Given the description of an element on the screen output the (x, y) to click on. 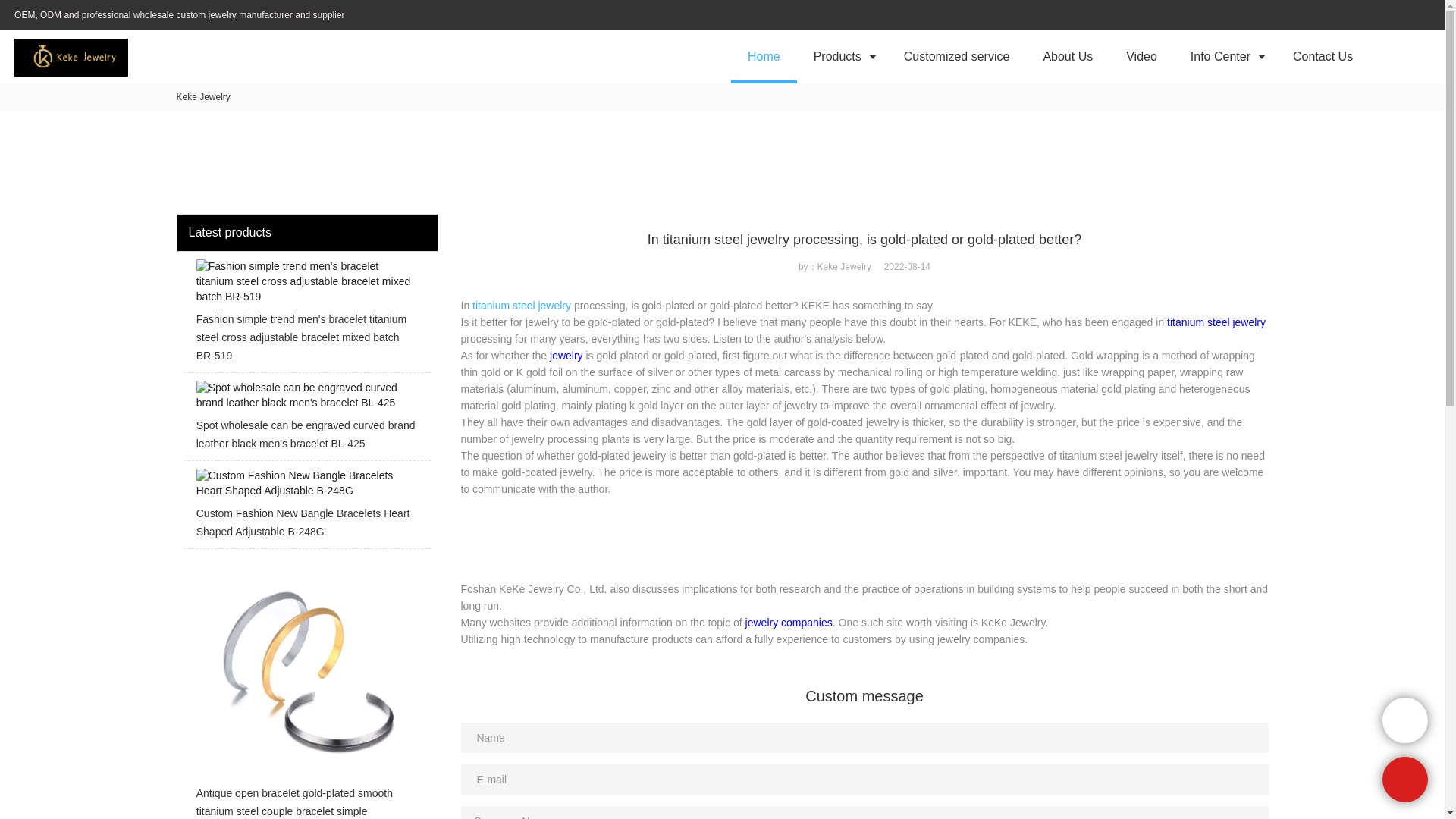
Customized service (956, 56)
About Us (1067, 56)
Home (763, 56)
Products (841, 56)
